Given the description of an element on the screen output the (x, y) to click on. 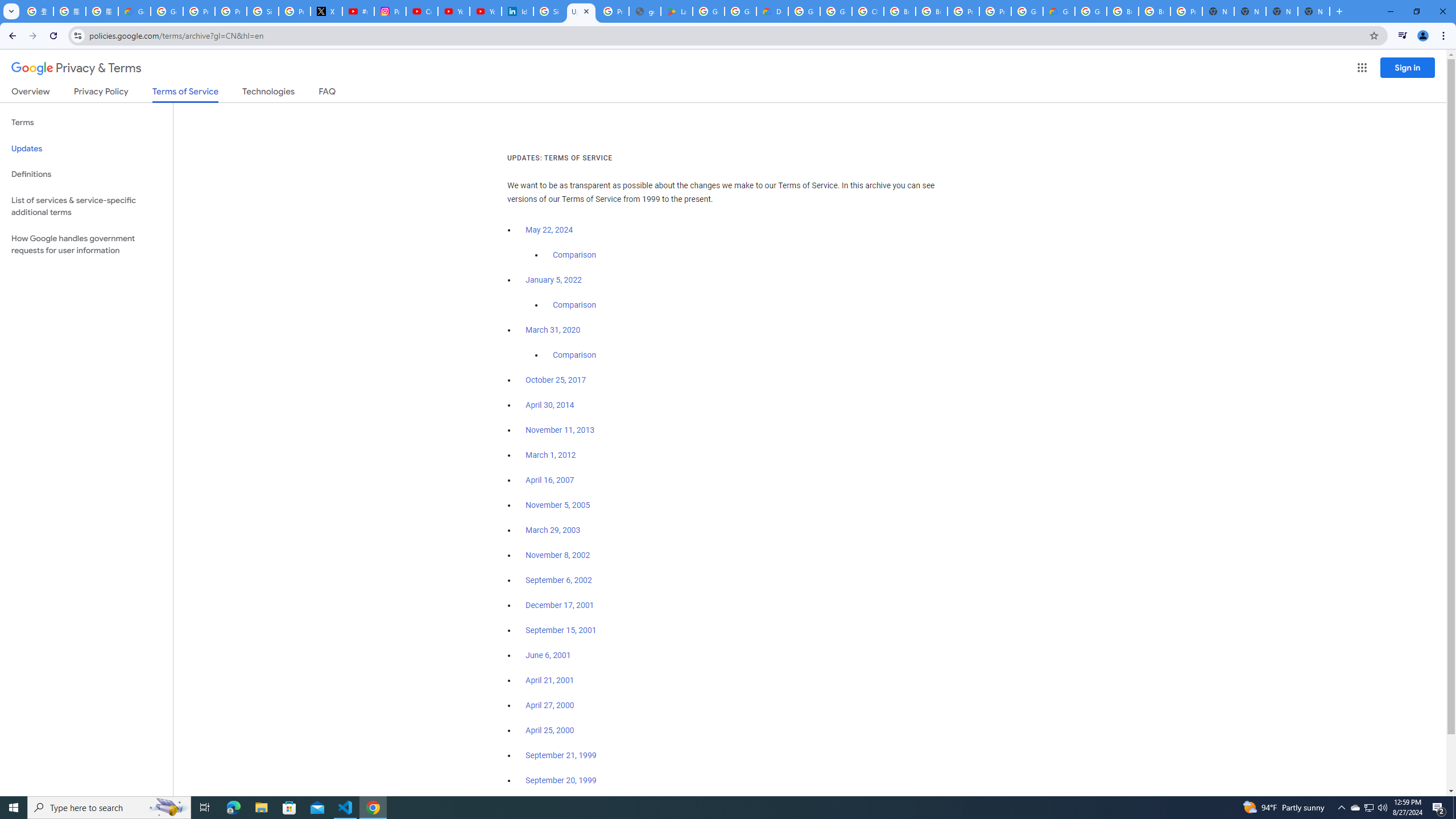
New Tab (1217, 11)
YouTube Culture & Trends - YouTube Top 10, 2021 (485, 11)
Google Workspace - Specific Terms (740, 11)
Google Cloud Platform (1027, 11)
How Google handles government requests for user information (86, 244)
Comparison (574, 355)
September 6, 2002 (558, 579)
April 27, 2000 (550, 705)
